Given the description of an element on the screen output the (x, y) to click on. 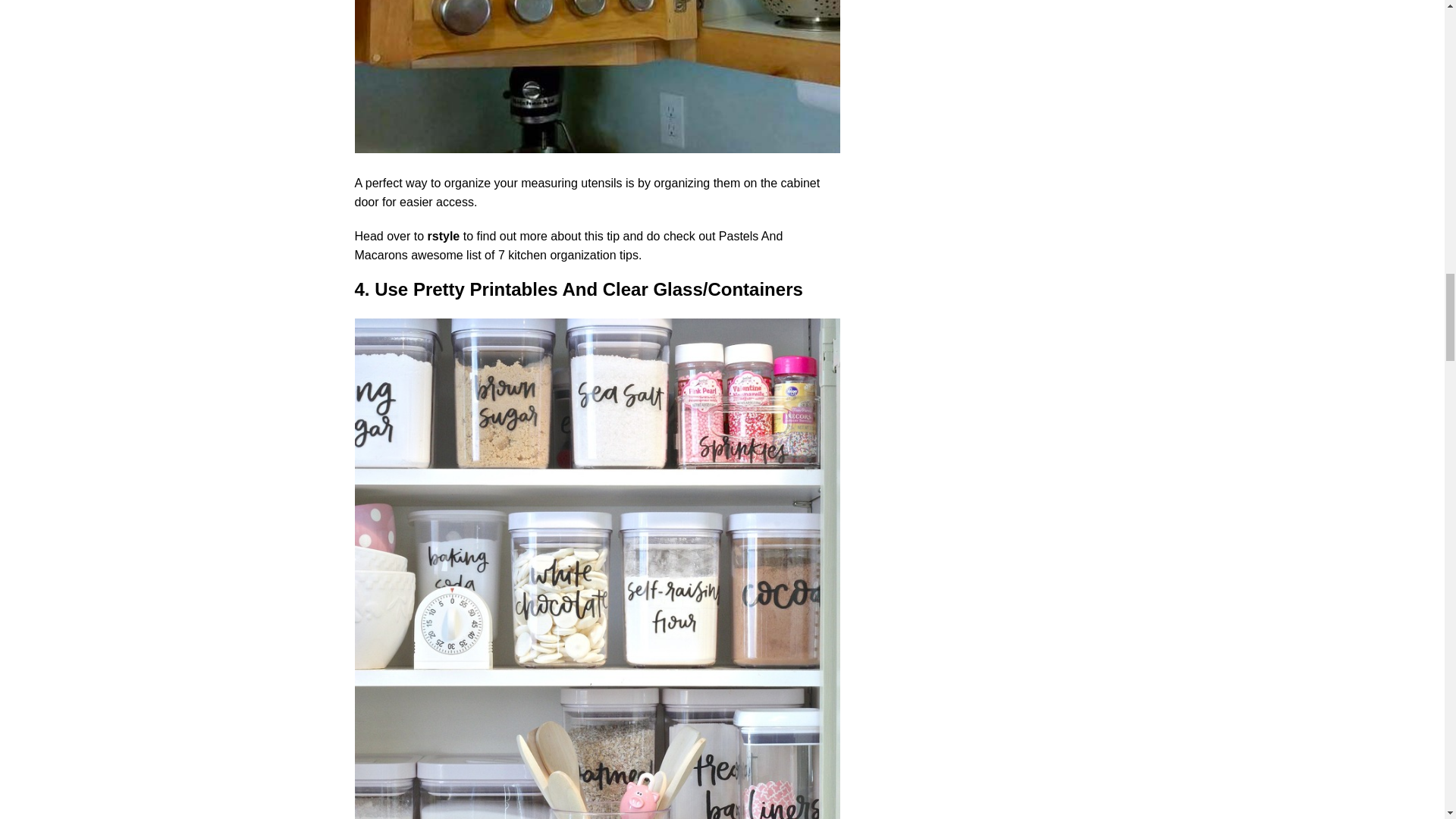
rstyle (444, 236)
Pastels And Macarons (569, 245)
